Given the description of an element on the screen output the (x, y) to click on. 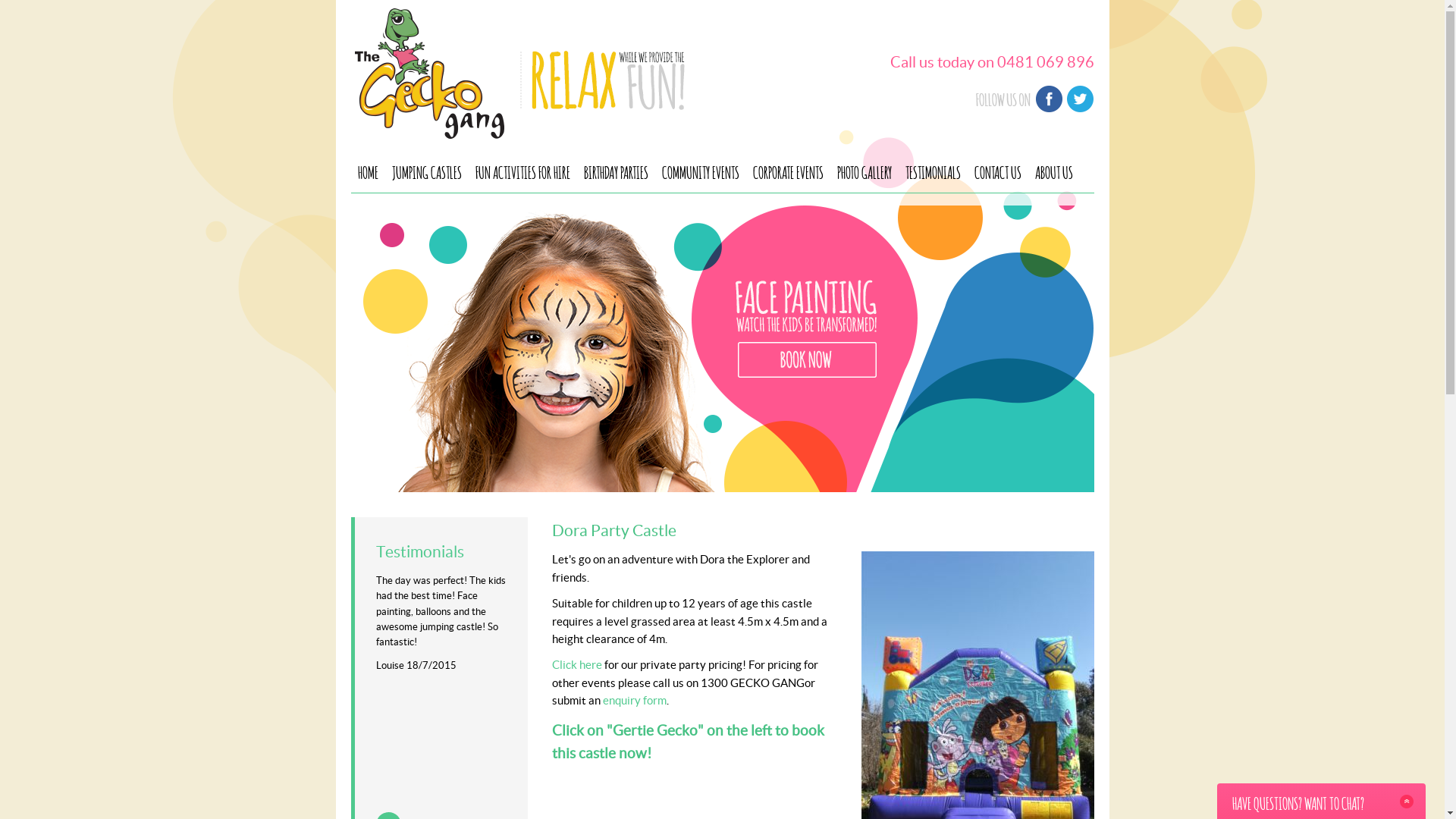
ABOUT US Element type: text (1053, 171)
Testimonials Element type: text (420, 551)
COMMUNITY EVENTS Element type: text (700, 171)
BIRTHDAY PARTIES Element type: text (615, 171)
TESTIMONIALS Element type: text (931, 171)
enquiry form Element type: text (633, 700)
PHOTO GALLERY Element type: text (863, 171)
HOME Element type: text (367, 171)
FUN ACTIVITIES FOR HIRE Element type: text (522, 171)
JUMPING CASTLES Element type: text (426, 171)
CONTACT US Element type: text (997, 171)
Click here Element type: text (578, 664)
CORPORATE EVENTS Element type: text (788, 171)
